Given the description of an element on the screen output the (x, y) to click on. 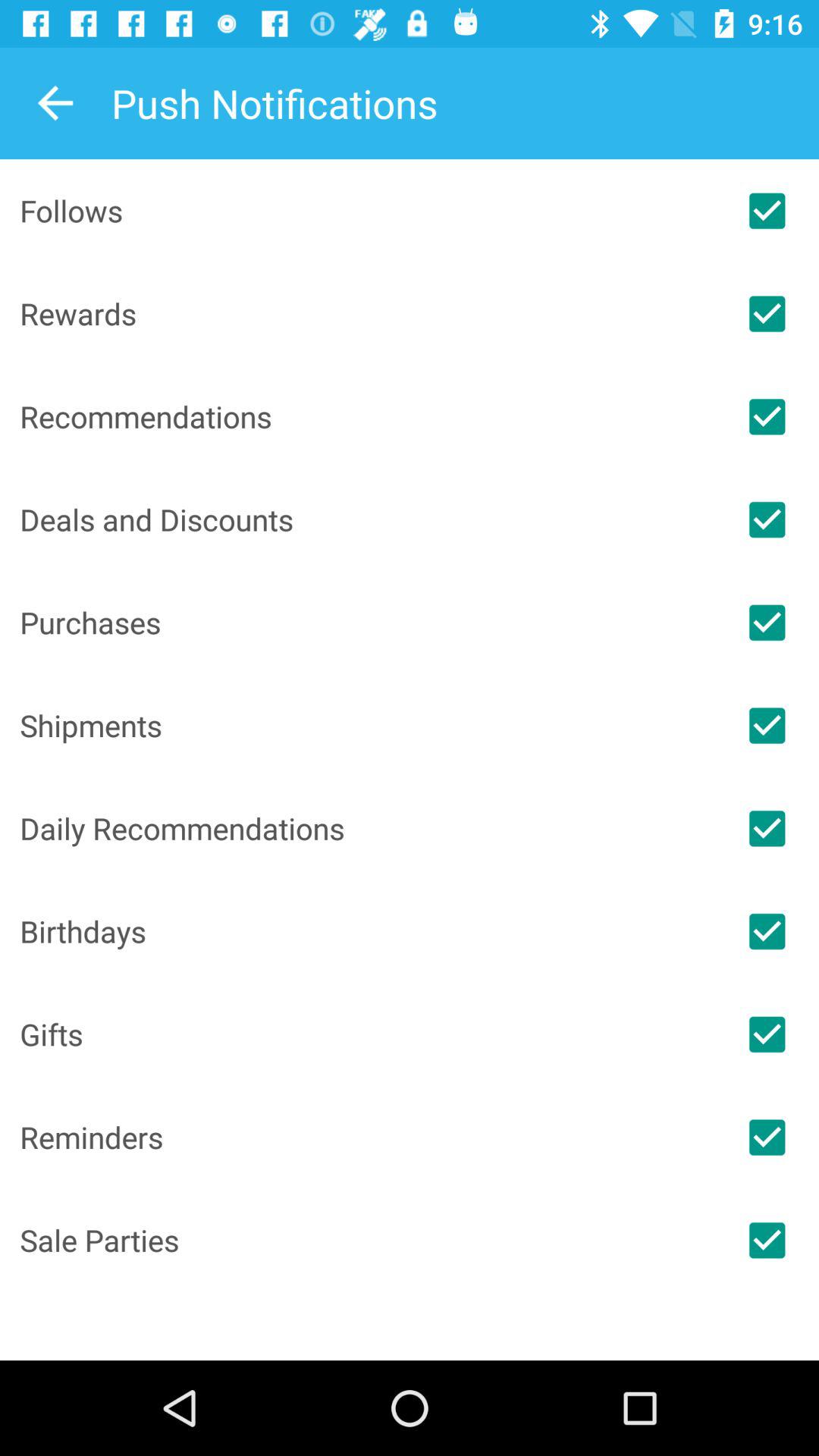
deselect push notifications for daily recommendations (767, 828)
